Given the description of an element on the screen output the (x, y) to click on. 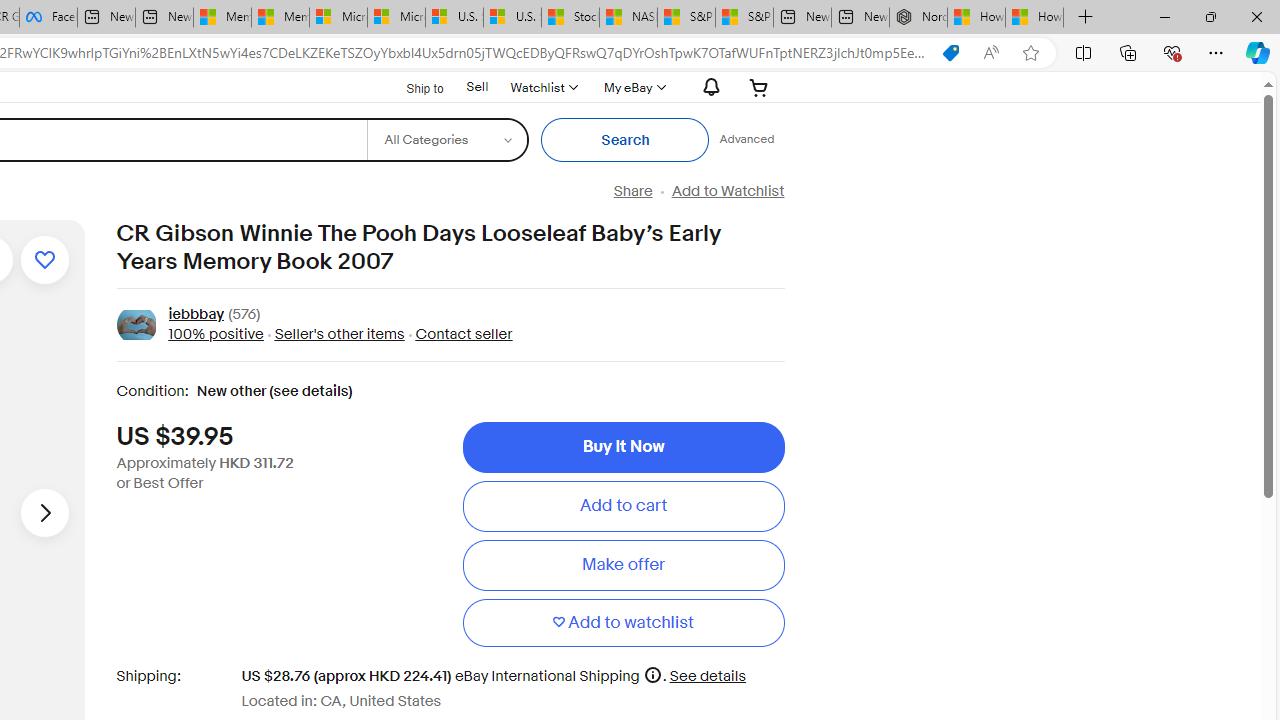
Share (632, 191)
See details for shipping (708, 676)
You have the best price! (950, 53)
Seller's other items (338, 334)
More information (652, 673)
Sell (476, 87)
WatchlistExpand Watch List (543, 87)
Contact seller (463, 334)
My eBayExpand My eBay (632, 87)
